Given the description of an element on the screen output the (x, y) to click on. 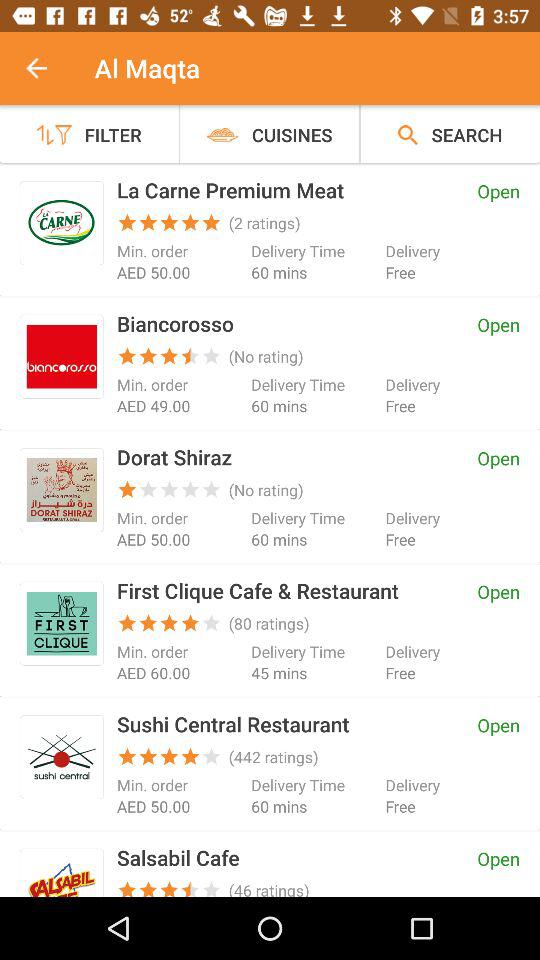
click the app icon (61, 489)
